Given the description of an element on the screen output the (x, y) to click on. 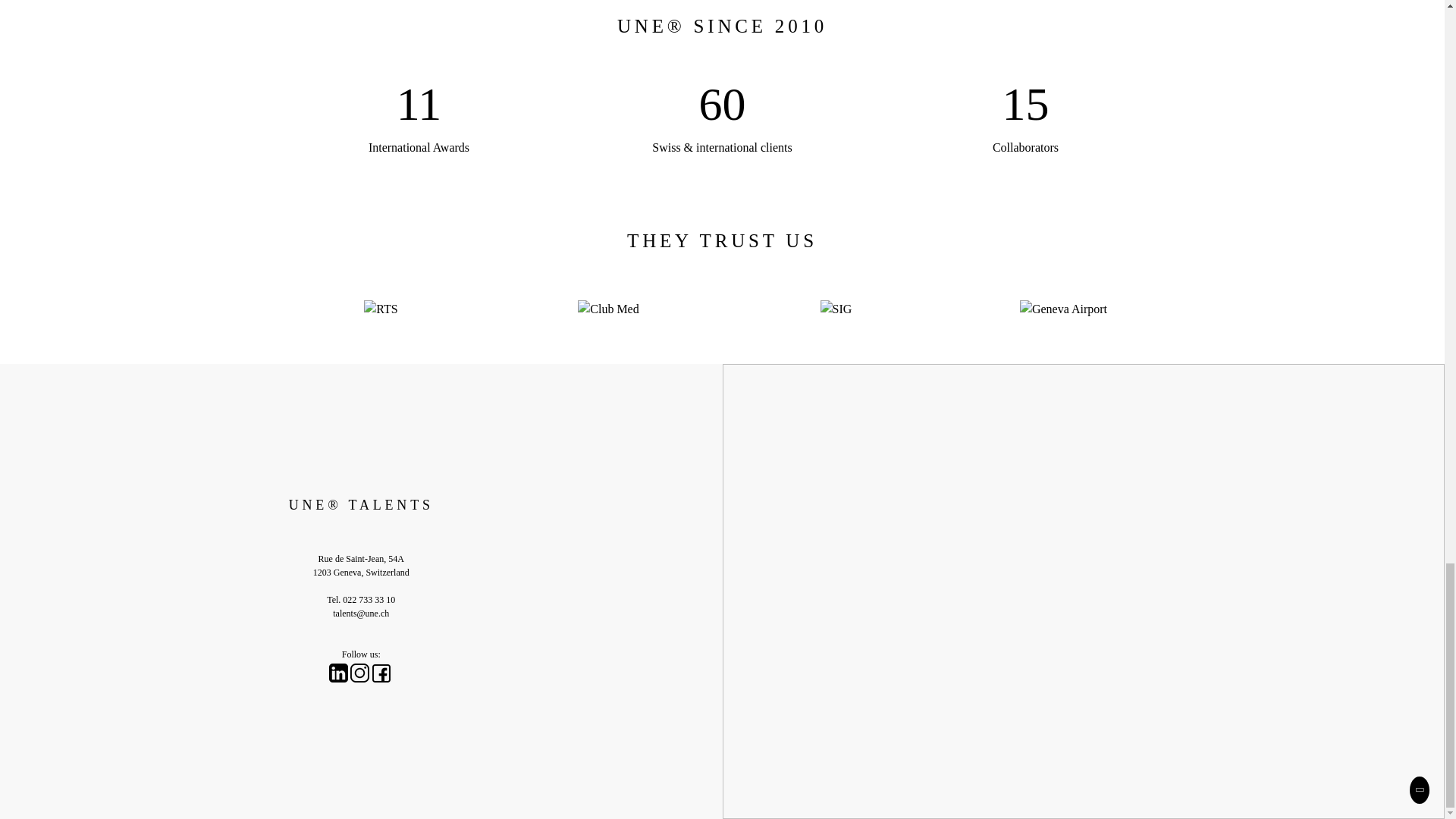
022 733 33 10 (368, 599)
